Given the description of an element on the screen output the (x, y) to click on. 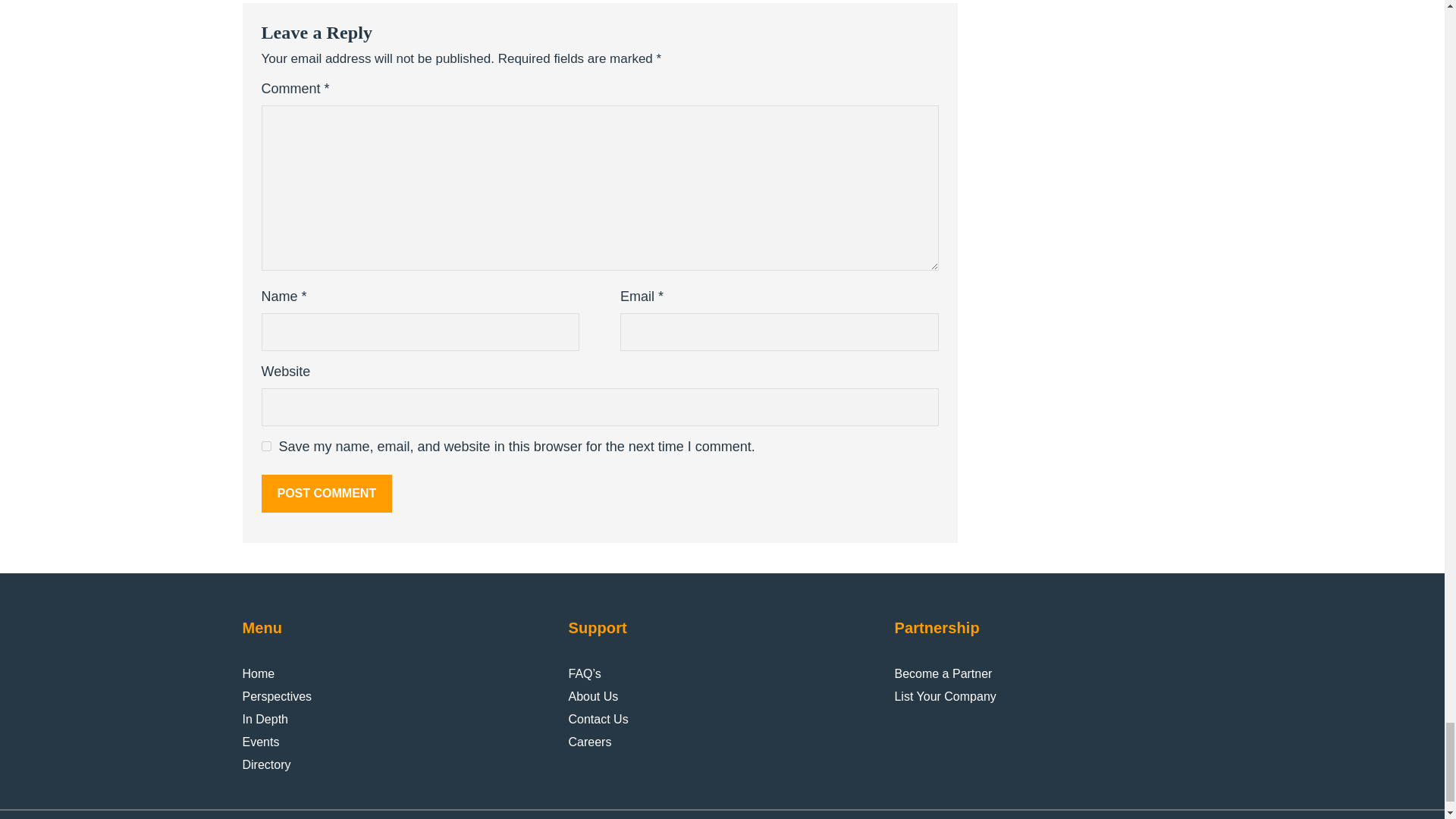
yes (265, 446)
Post Comment (325, 493)
In Depth (265, 719)
Home (259, 674)
Perspectives (278, 696)
Post Comment (325, 493)
Directory (267, 764)
About Us (592, 696)
Events (261, 742)
